Given the description of an element on the screen output the (x, y) to click on. 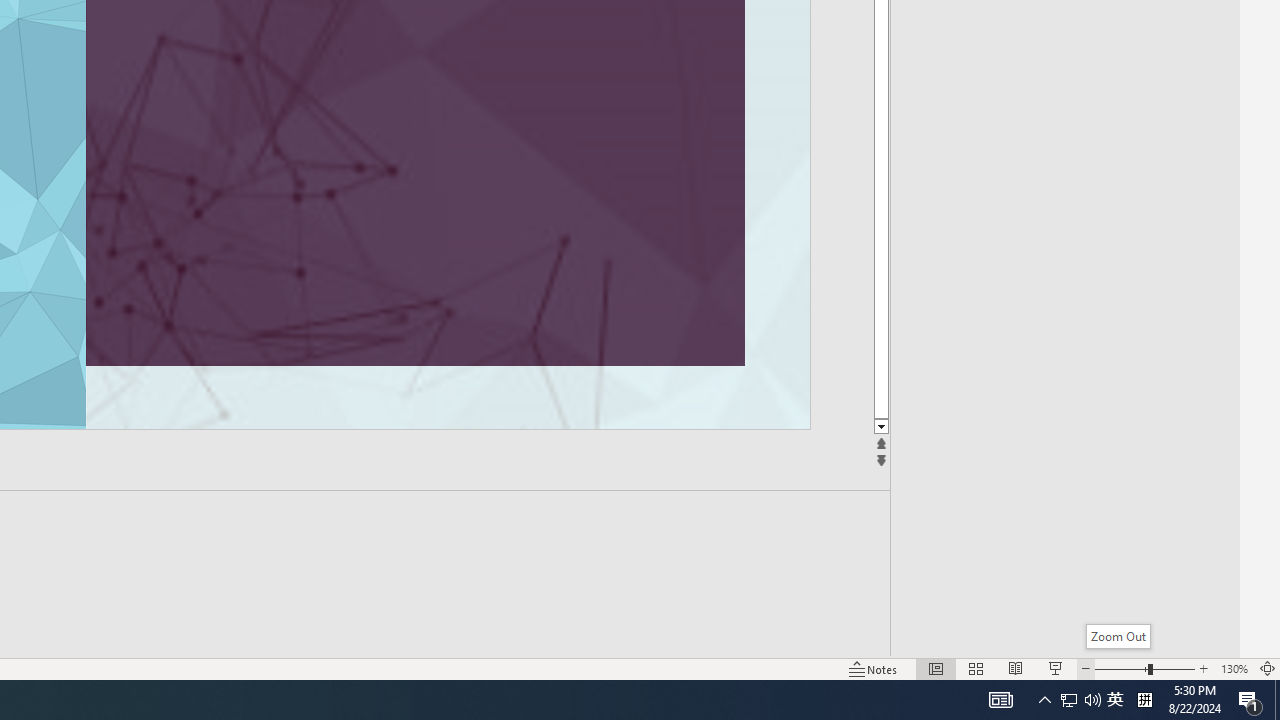
Zoom 130% (1234, 668)
